Given the description of an element on the screen output the (x, y) to click on. 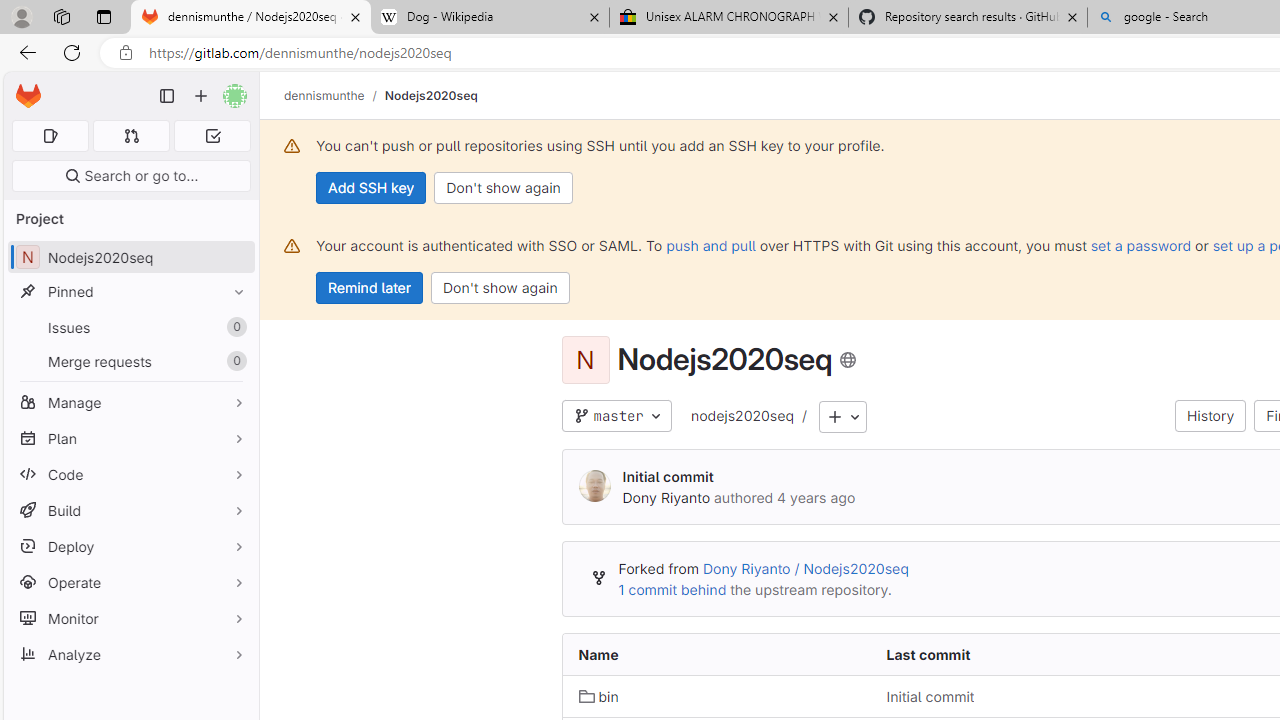
Operate (130, 582)
bin (715, 696)
Monitor (130, 618)
Manage (130, 402)
Issues0 (130, 327)
Primary navigation sidebar (167, 96)
Deploy (130, 546)
Unpin Merge requests (234, 361)
Operate (130, 582)
Deploy (130, 546)
Remind later (369, 287)
Dog - Wikipedia (490, 17)
Last commit (1024, 655)
Analyze (130, 654)
